Given the description of an element on the screen output the (x, y) to click on. 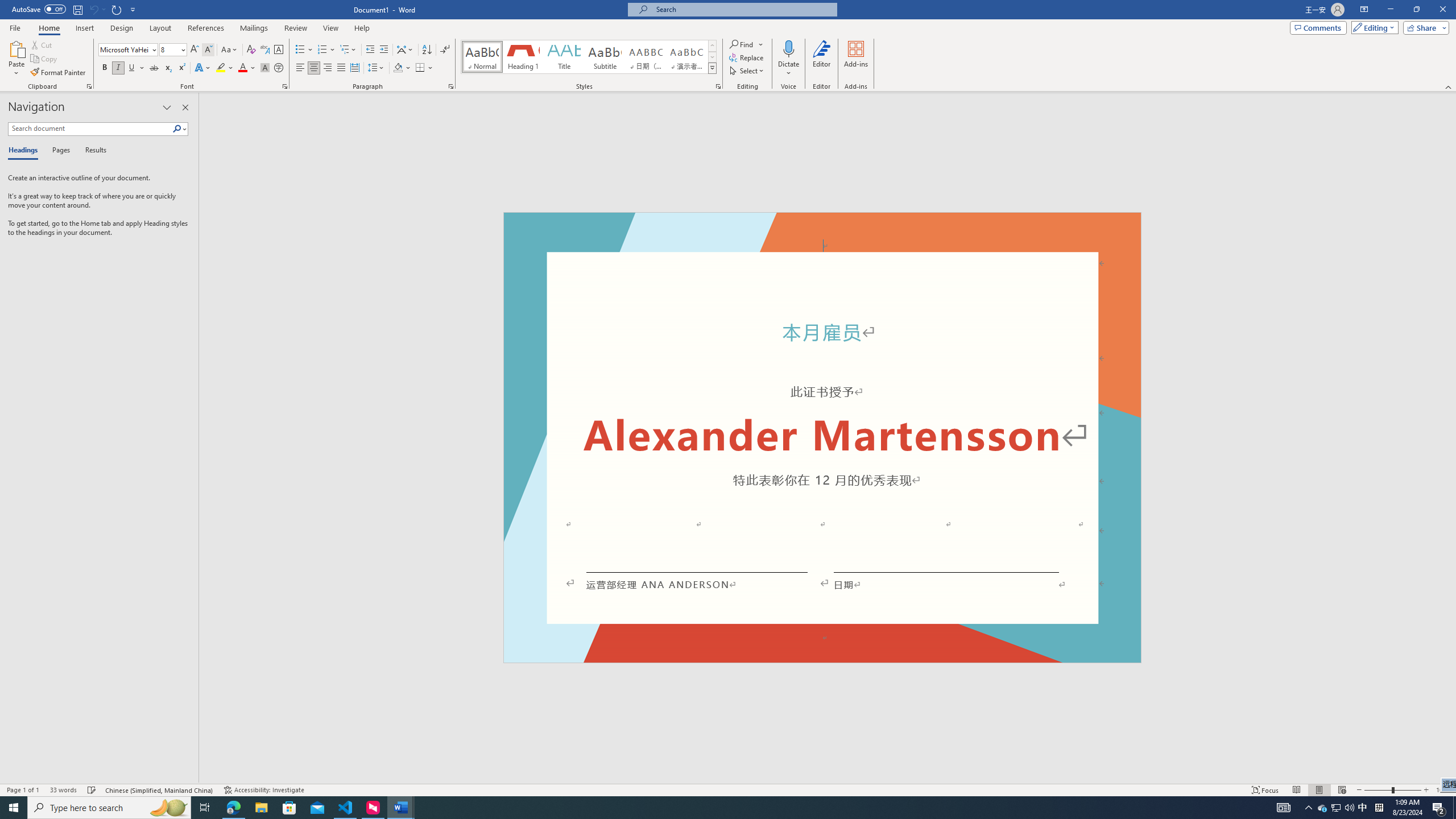
Copy (45, 58)
Microsoft search (742, 9)
Design (122, 28)
Paste (16, 48)
Subscript (167, 67)
Cut (42, 44)
File Tab (15, 27)
Numbering (322, 49)
Text Highlight Color (224, 67)
Restore Down (1416, 9)
Shading RGB(0, 0, 0) (397, 67)
Web Layout (1342, 790)
Close pane (185, 107)
